Given the description of an element on the screen output the (x, y) to click on. 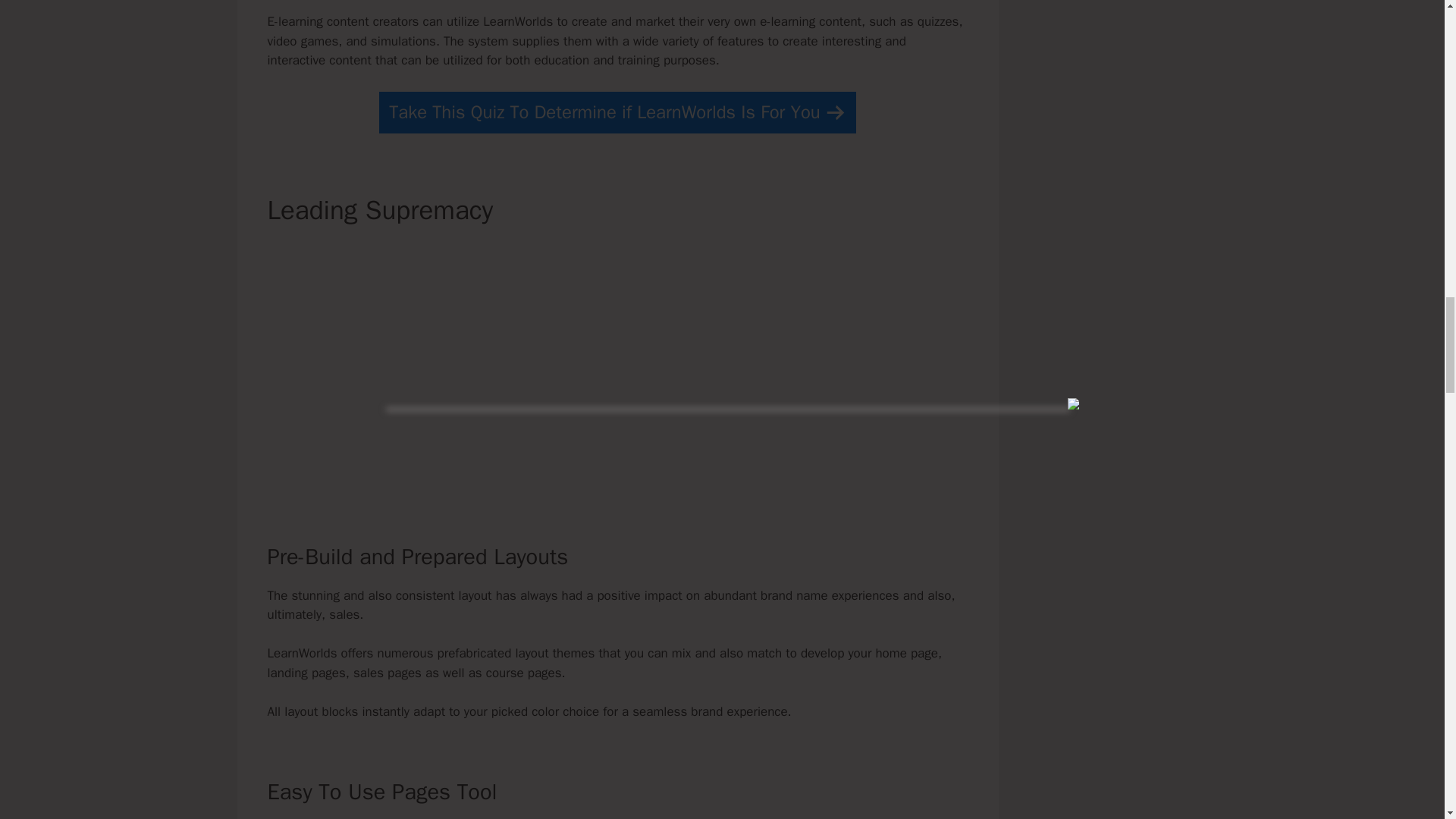
Take This Quiz To Determine if LearnWorlds Is For You (617, 112)
